Given the description of an element on the screen output the (x, y) to click on. 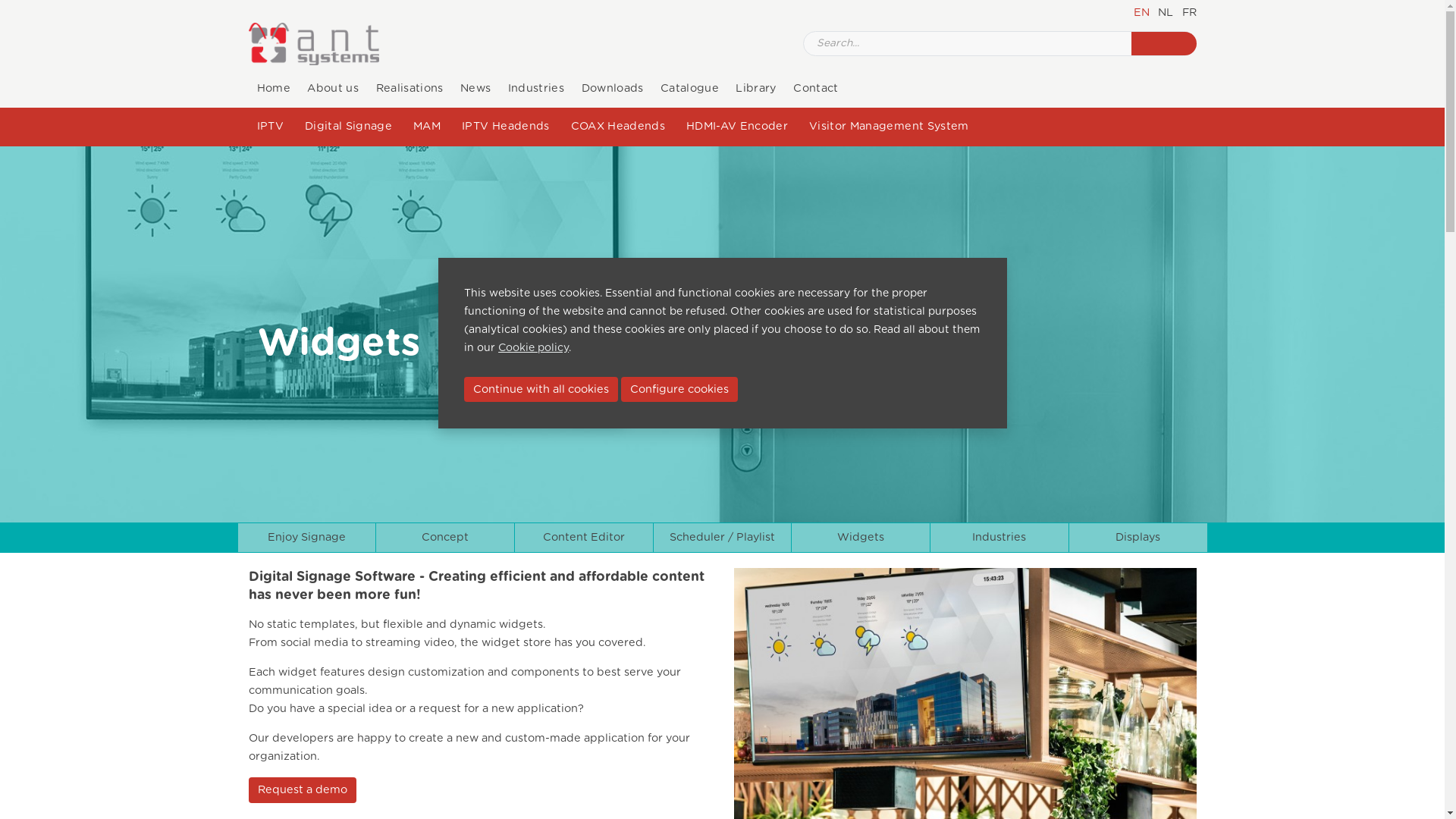
Widgets Element type: text (860, 537)
Enjoy Signage Element type: text (307, 537)
Industries Element type: text (536, 88)
Request a demo Element type: text (302, 790)
News Element type: text (475, 88)
Displays Element type: text (1138, 537)
Concept Element type: text (445, 537)
Home Element type: text (273, 88)
IPTV Element type: text (272, 126)
MAM Element type: text (428, 126)
About us Element type: text (332, 88)
Cookie policy Element type: text (533, 347)
HDMI-AV Encoder Element type: text (738, 126)
Continue with all cookies Element type: text (541, 389)
Content Editor Element type: text (583, 537)
Widgets Element type: text (338, 343)
Industries Element type: text (999, 537)
COAX Headends Element type: text (619, 126)
Digital Signage Element type: text (350, 126)
Contact Element type: text (815, 88)
Catalogue Element type: text (689, 88)
Downloads Element type: text (611, 88)
Realisations Element type: text (409, 88)
Configure cookies Element type: text (679, 389)
Scheduler / Playlist Element type: text (722, 537)
Visitor Management System Element type: text (890, 126)
Library Element type: text (755, 88)
IPTV Headends Element type: text (507, 126)
